Given the description of an element on the screen output the (x, y) to click on. 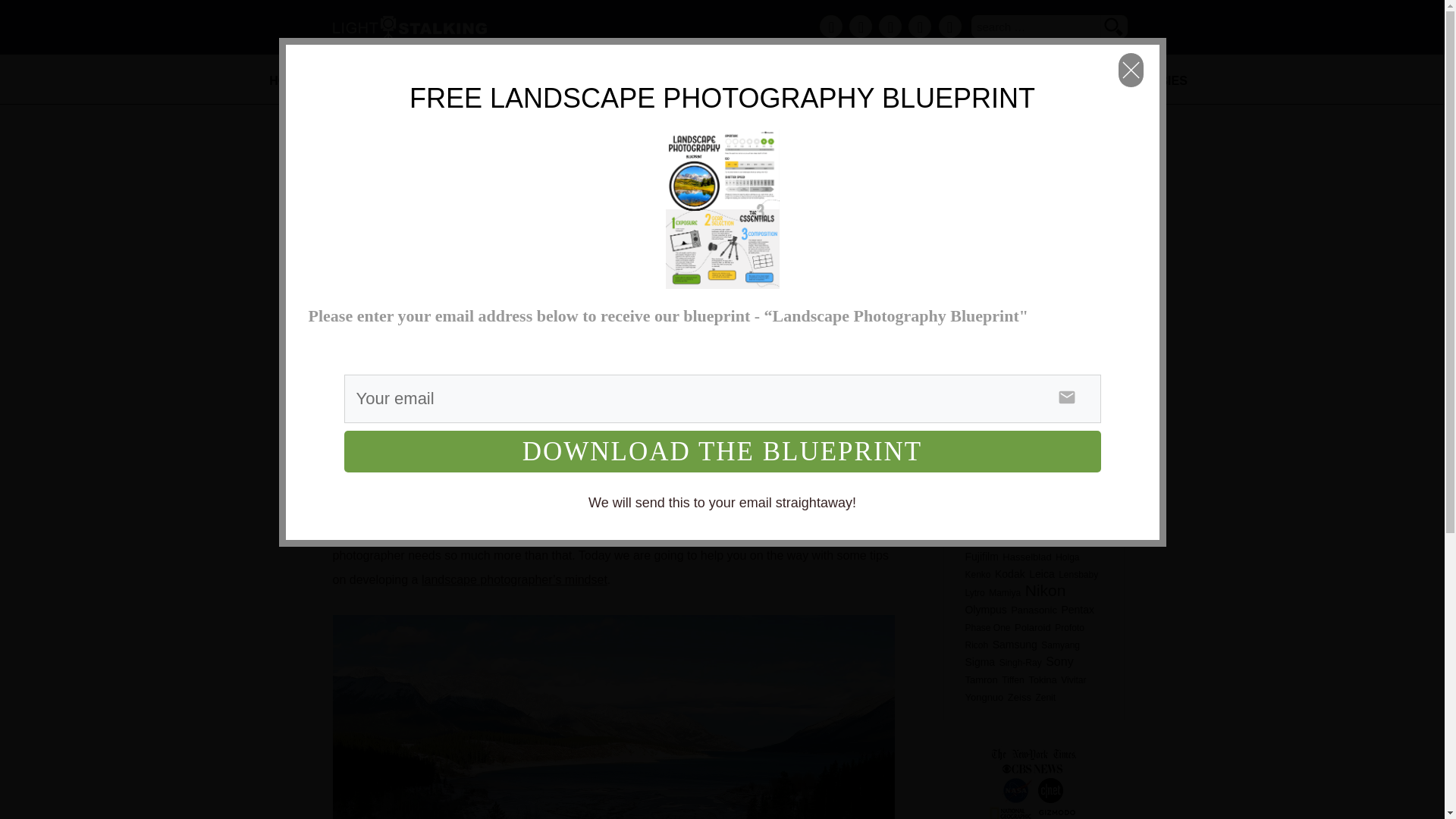
MY STUDIO (504, 81)
Share on Tweets (444, 315)
Search (1113, 26)
The Ability to Filter Clutter (1021, 363)
Share on Copy Link (506, 315)
Share on Shares (382, 315)
Search (1113, 26)
FORUMS (722, 81)
HOME (287, 81)
Share on Flipboard (412, 315)
Knowing your Lenses (1014, 347)
Share on Pins (475, 315)
Search (1113, 26)
Be Motivated (1000, 291)
Get Case Studies (727, 441)
